Given the description of an element on the screen output the (x, y) to click on. 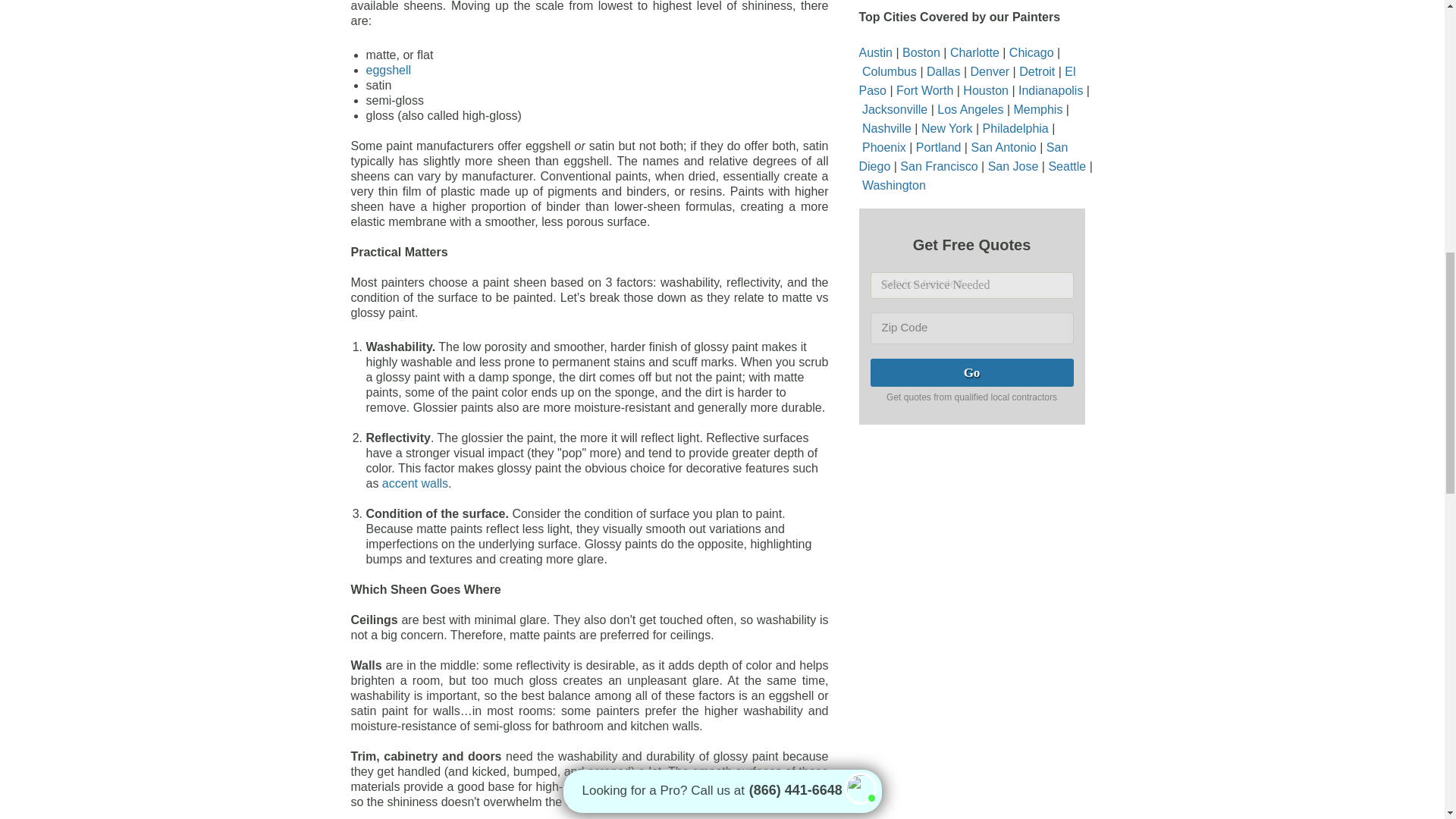
Go (972, 372)
